Given the description of an element on the screen output the (x, y) to click on. 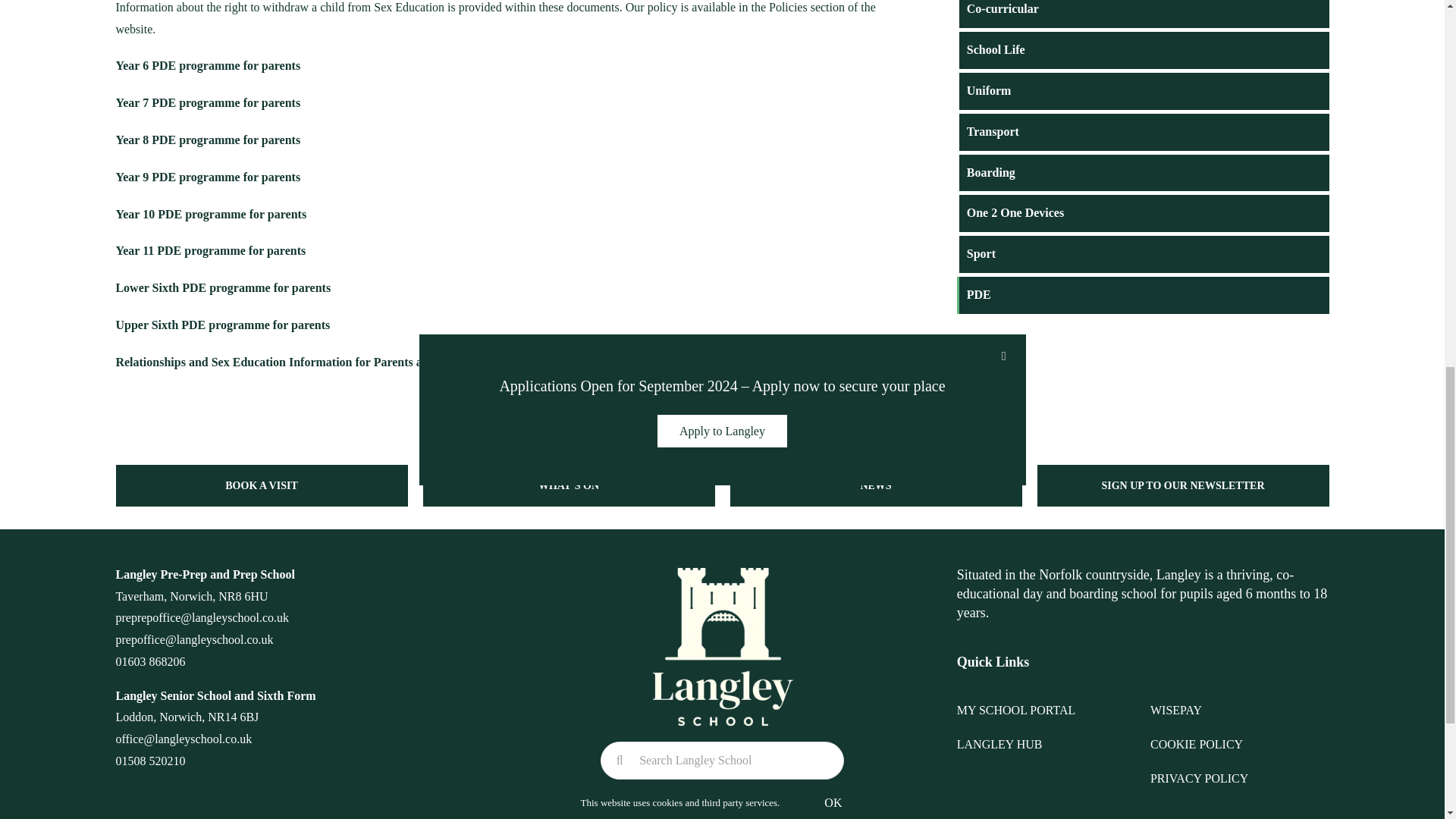
Sixth Form (286, 695)
Pre-Prep (184, 574)
Prep (263, 574)
Senior (195, 695)
Boarding (1112, 593)
PDE (721, 557)
